Given the description of an element on the screen output the (x, y) to click on. 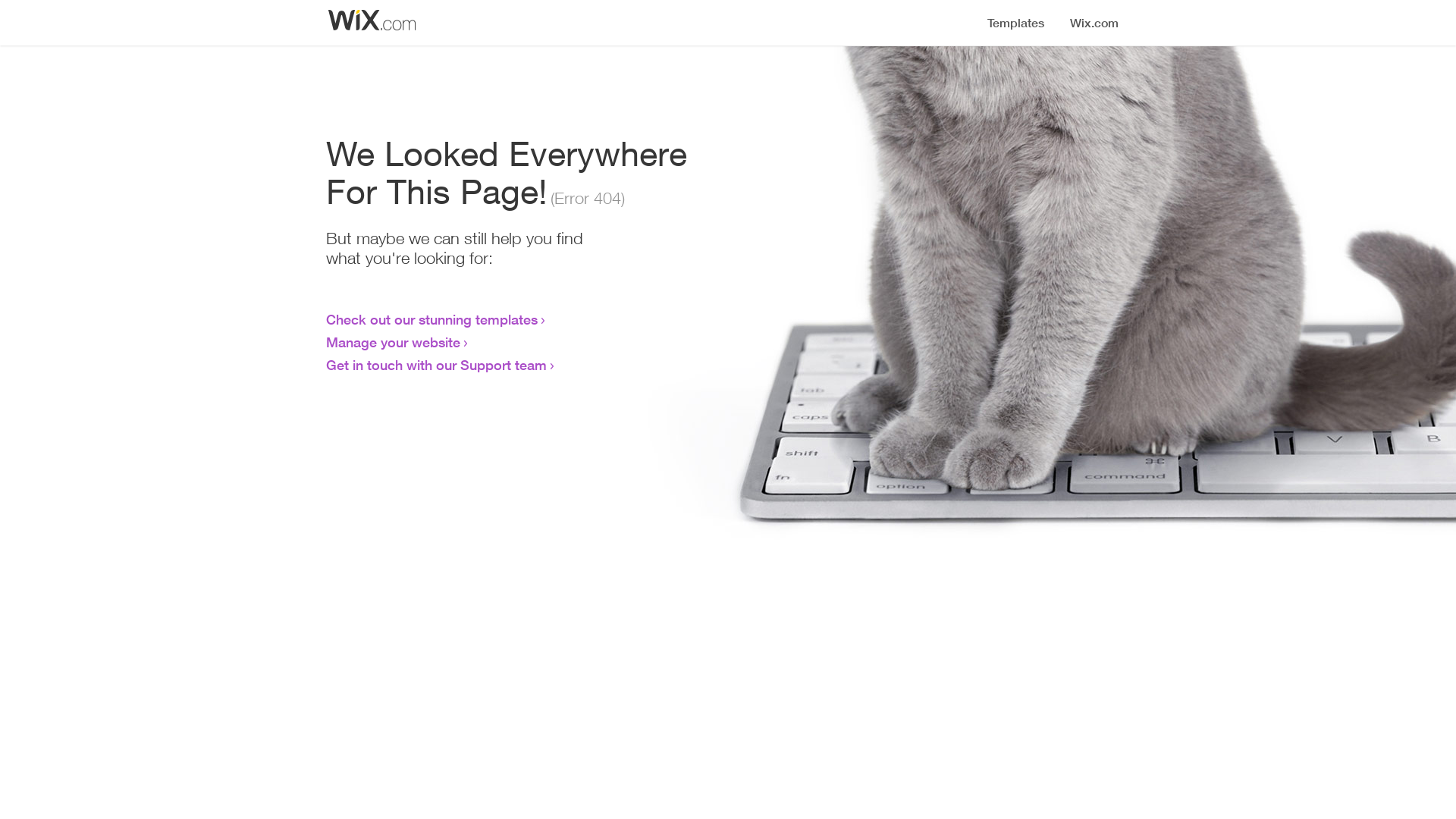
Get in touch with our Support team Element type: text (436, 364)
Manage your website Element type: text (393, 341)
Check out our stunning templates Element type: text (431, 318)
